Given the description of an element on the screen output the (x, y) to click on. 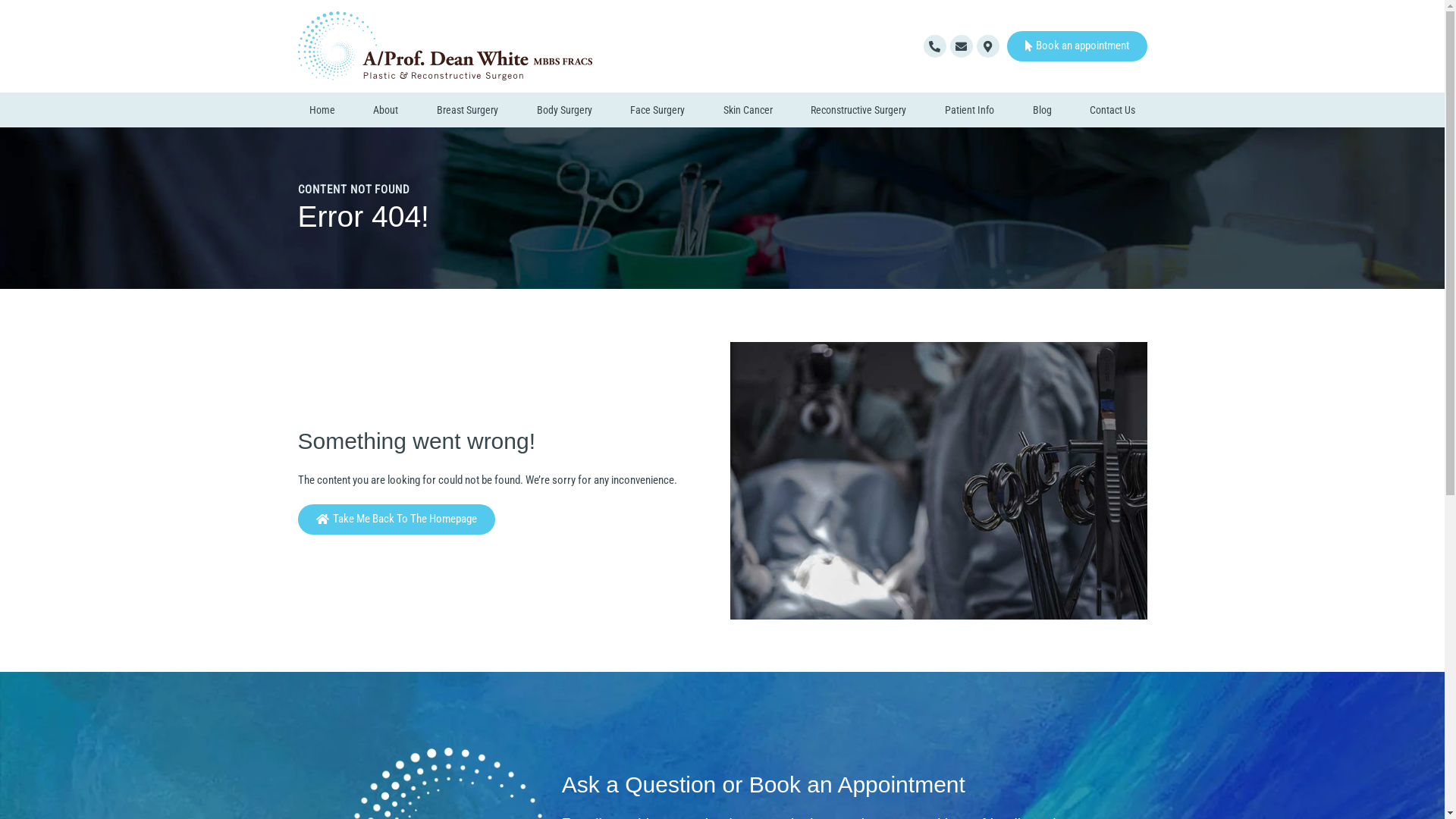
Blog Element type: text (1041, 109)
Reconstructive Surgery Element type: text (858, 109)
Phone-alt Element type: text (934, 45)
Take Me Back To The Homepage Element type: text (395, 519)
Breast Surgery Element type: text (467, 109)
Face Surgery Element type: text (657, 109)
Map-marker-alt Element type: text (987, 45)
Book an appointment Element type: text (1077, 46)
Envelope Element type: text (960, 45)
Home Element type: text (321, 109)
Contact Us Element type: text (1112, 109)
Skin Cancer Element type: text (747, 109)
Patient Info Element type: text (969, 109)
Body Surgery Element type: text (564, 109)
About Element type: text (385, 109)
